Given the description of an element on the screen output the (x, y) to click on. 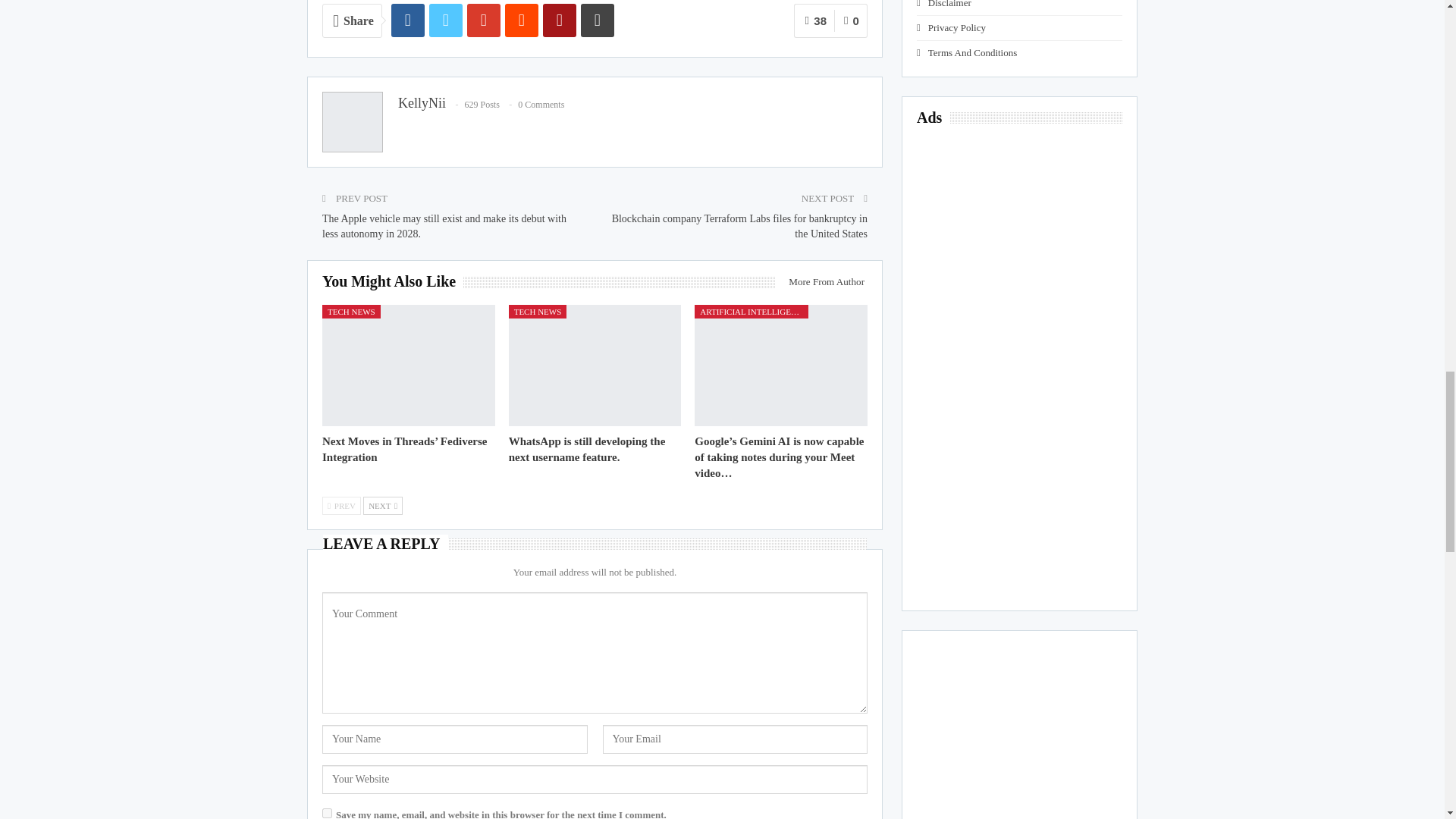
Next (382, 505)
Previous (341, 505)
WhatsApp is still developing the next username feature. (594, 364)
yes (326, 813)
WhatsApp is still developing the next username feature. (586, 448)
KellyNii (421, 102)
0 (850, 20)
